Given the description of an element on the screen output the (x, y) to click on. 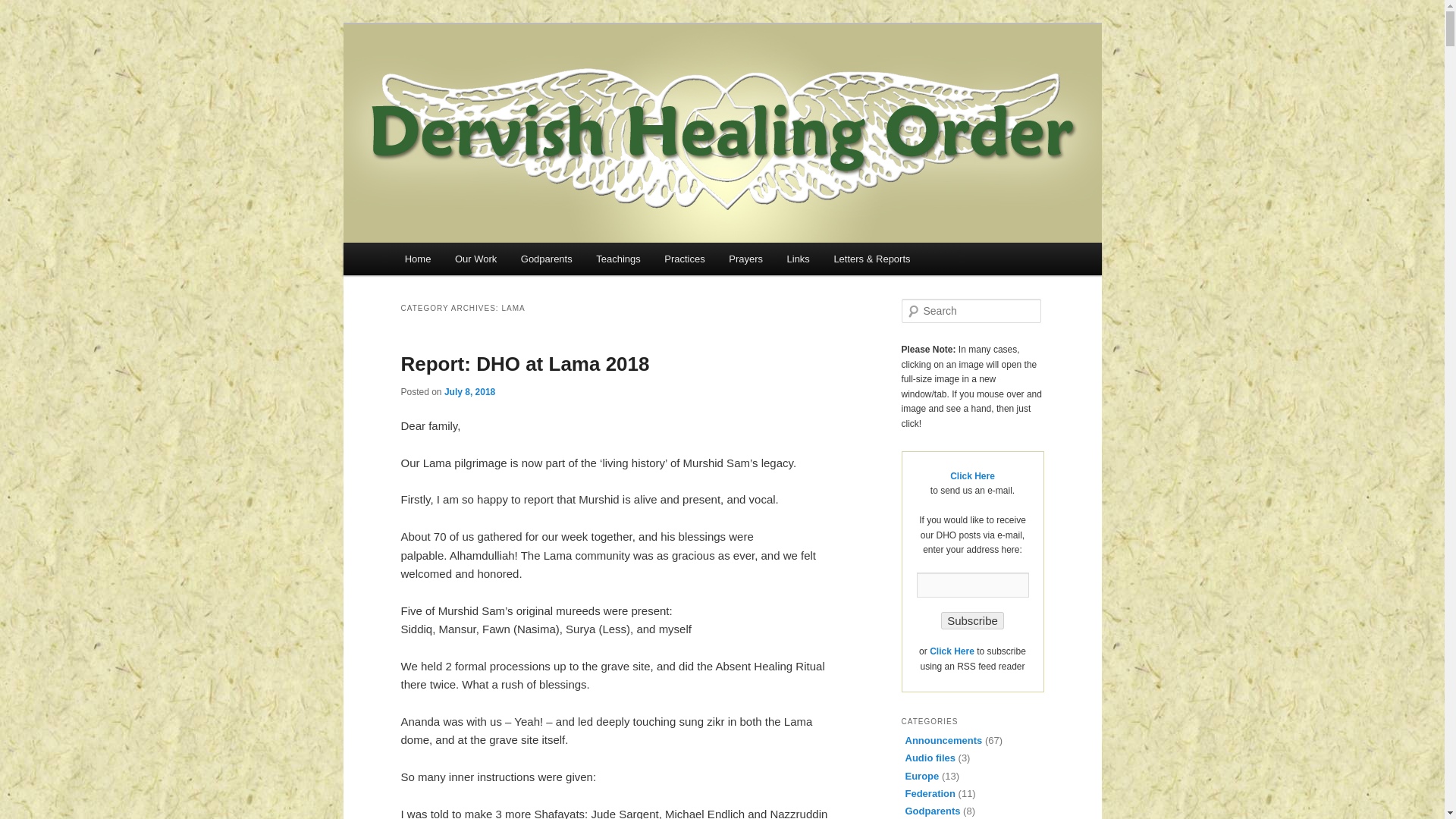
Godparents (545, 258)
Dervish Healing Order (544, 79)
12:57 pm (469, 391)
Dervish Healing Order (544, 79)
Home (417, 258)
Our Work (475, 258)
Subscribe (972, 620)
